Given the description of an element on the screen output the (x, y) to click on. 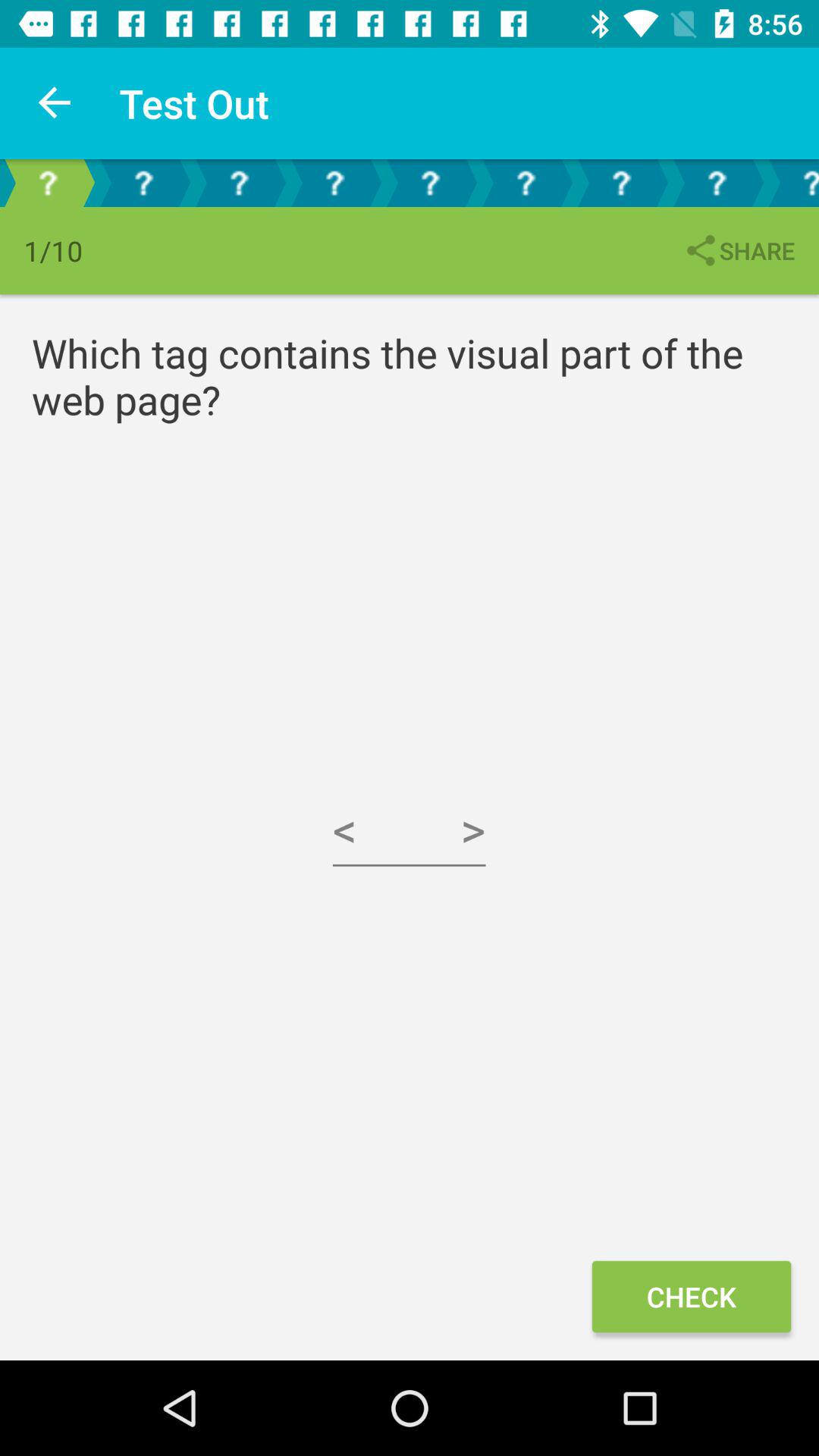
press the check icon (691, 1296)
